Given the description of an element on the screen output the (x, y) to click on. 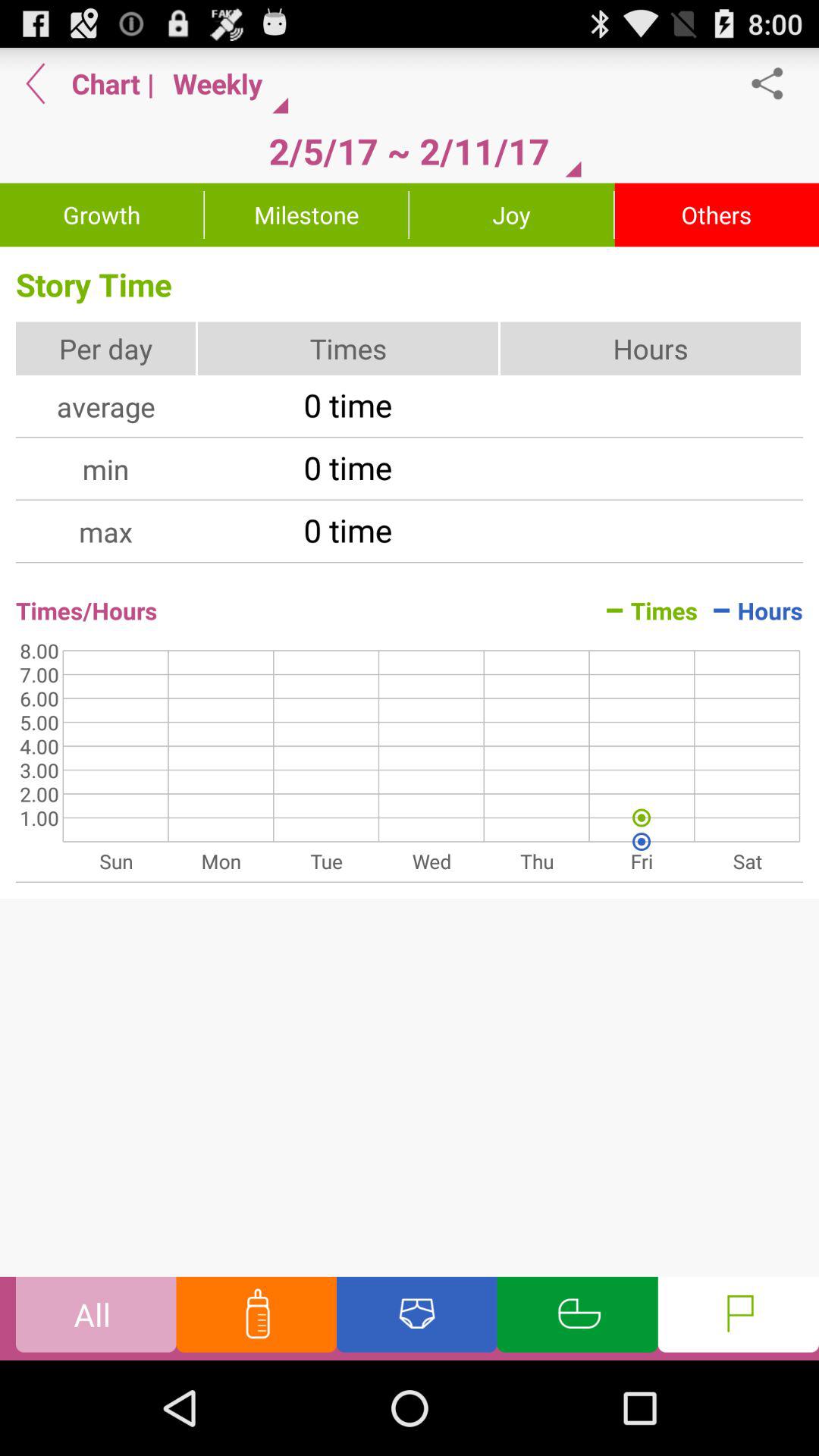
swipe until milestone (306, 214)
